Given the description of an element on the screen output the (x, y) to click on. 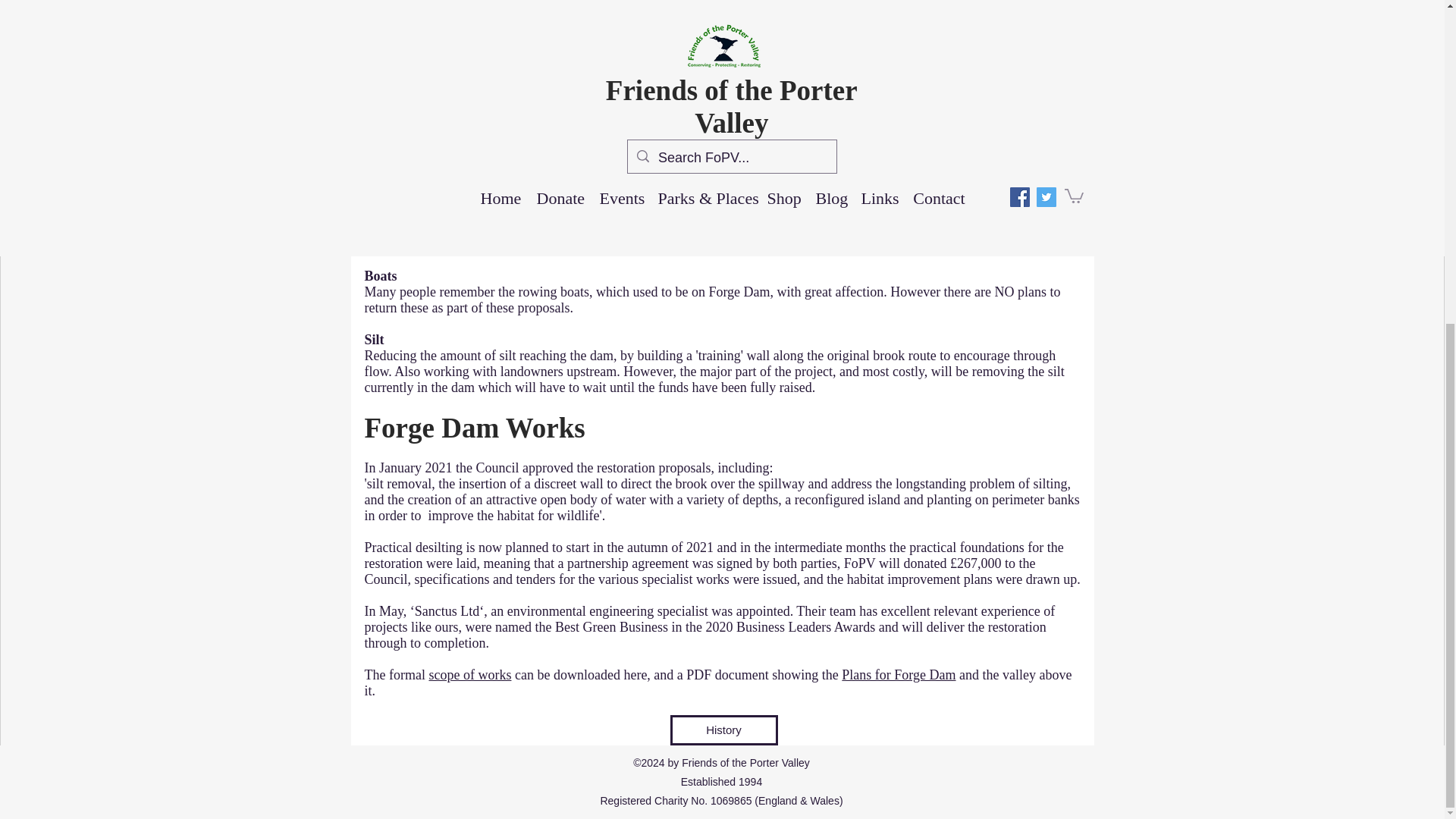
History (723, 729)
Plans for Forge Dam (898, 674)
scope of works (469, 674)
